Given the description of an element on the screen output the (x, y) to click on. 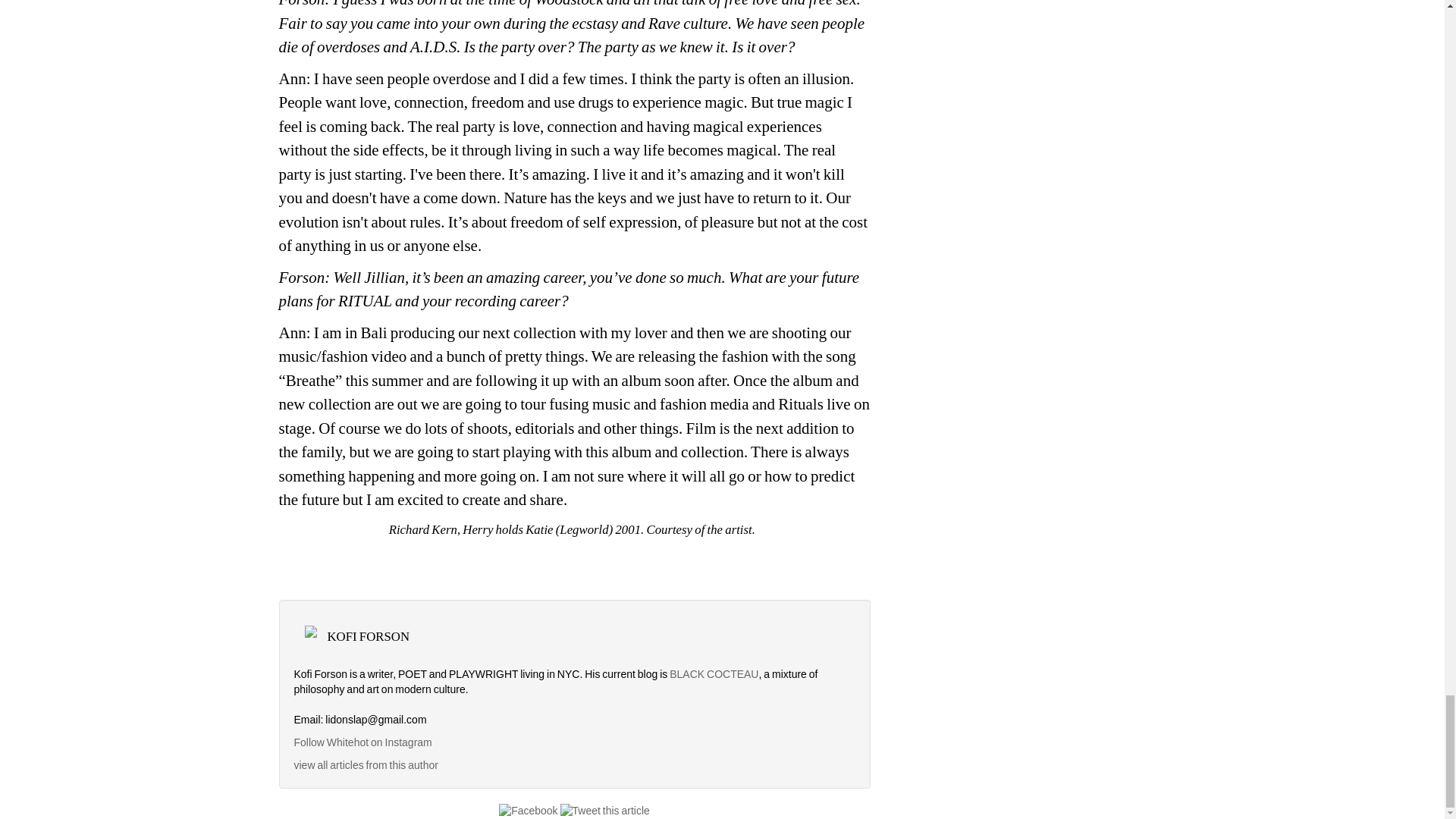
Follow Whitehot on Instagram  (363, 742)
view all articles from this author (366, 765)
Facebook (528, 810)
BLACK COCTEAU (713, 674)
